Given the description of an element on the screen output the (x, y) to click on. 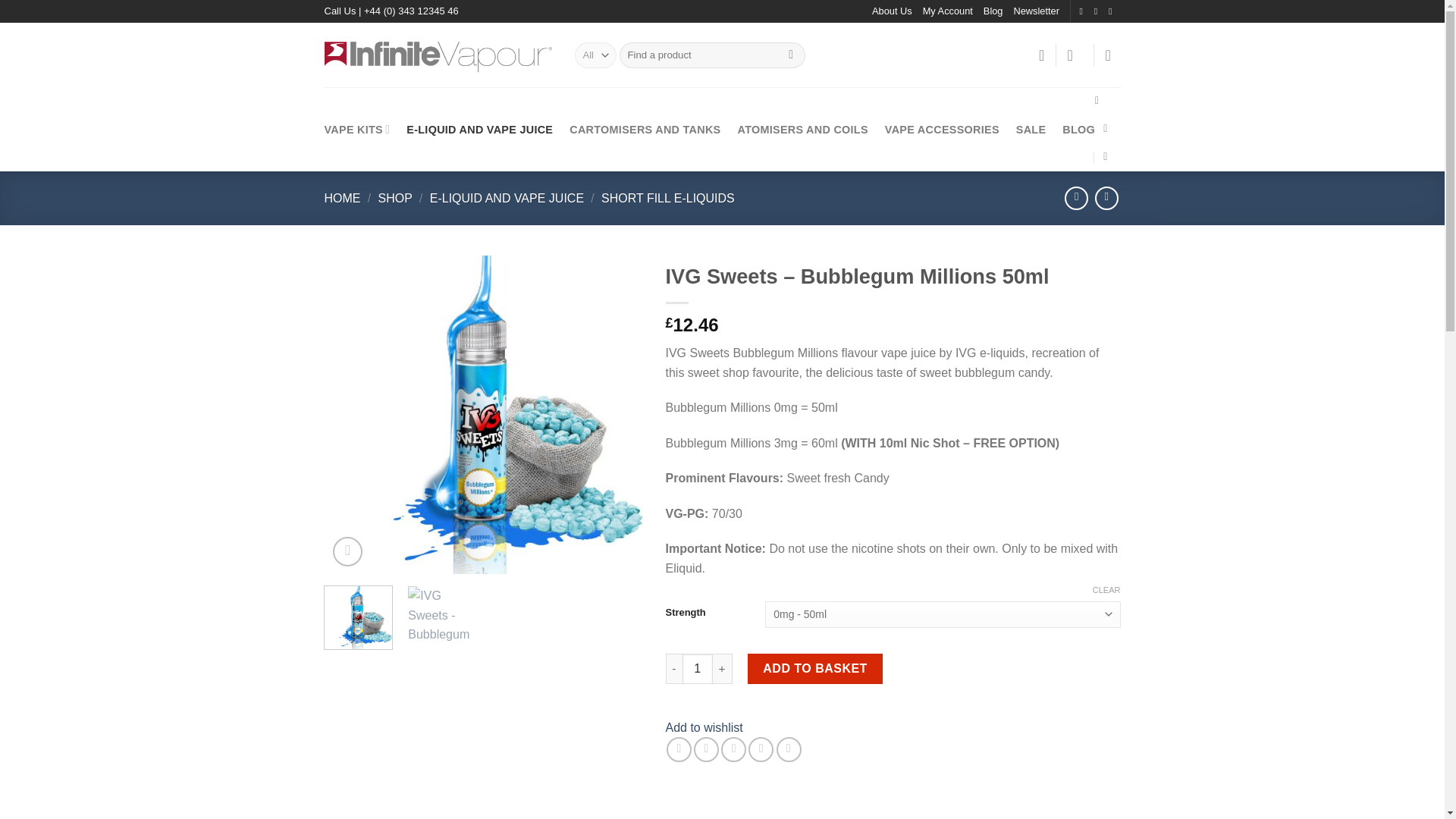
VAPE ACCESSORIES (941, 129)
ATOMISERS AND COILS (802, 129)
My Account (947, 11)
SHOP (394, 197)
Search (790, 54)
E-LIQUID AND VAPE JUICE (506, 197)
SHORT FILL E-LIQUIDS (668, 197)
Newsletter (1035, 11)
Sign up for Newsletter (1035, 11)
